Given the description of an element on the screen output the (x, y) to click on. 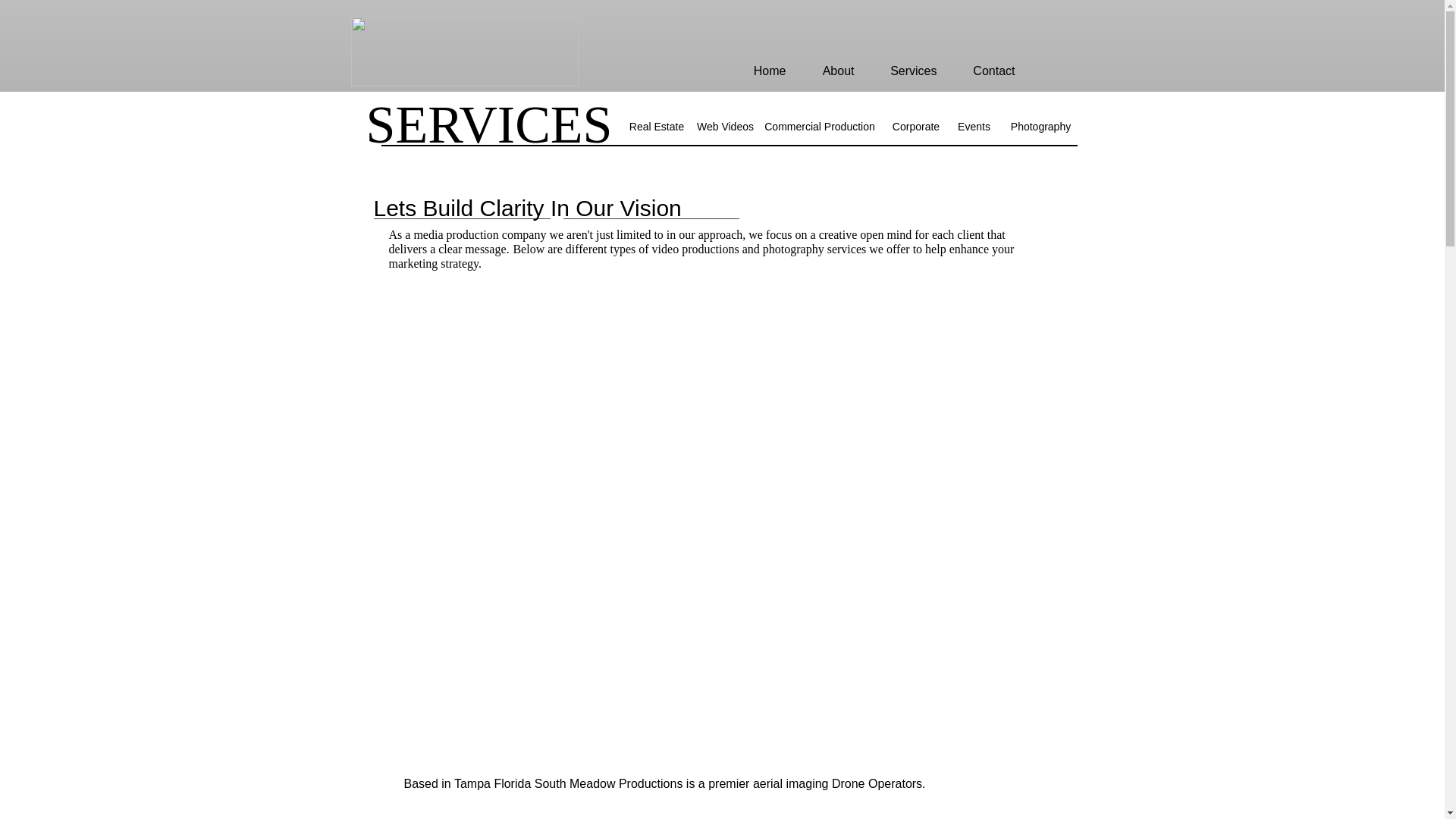
Services (907, 70)
Web Videos (725, 127)
About (831, 70)
Home (762, 70)
Commercial Production (819, 127)
Events (973, 127)
Photography (1041, 127)
Contact (986, 70)
Corporate (915, 127)
Real Estate (655, 127)
